Given the description of an element on the screen output the (x, y) to click on. 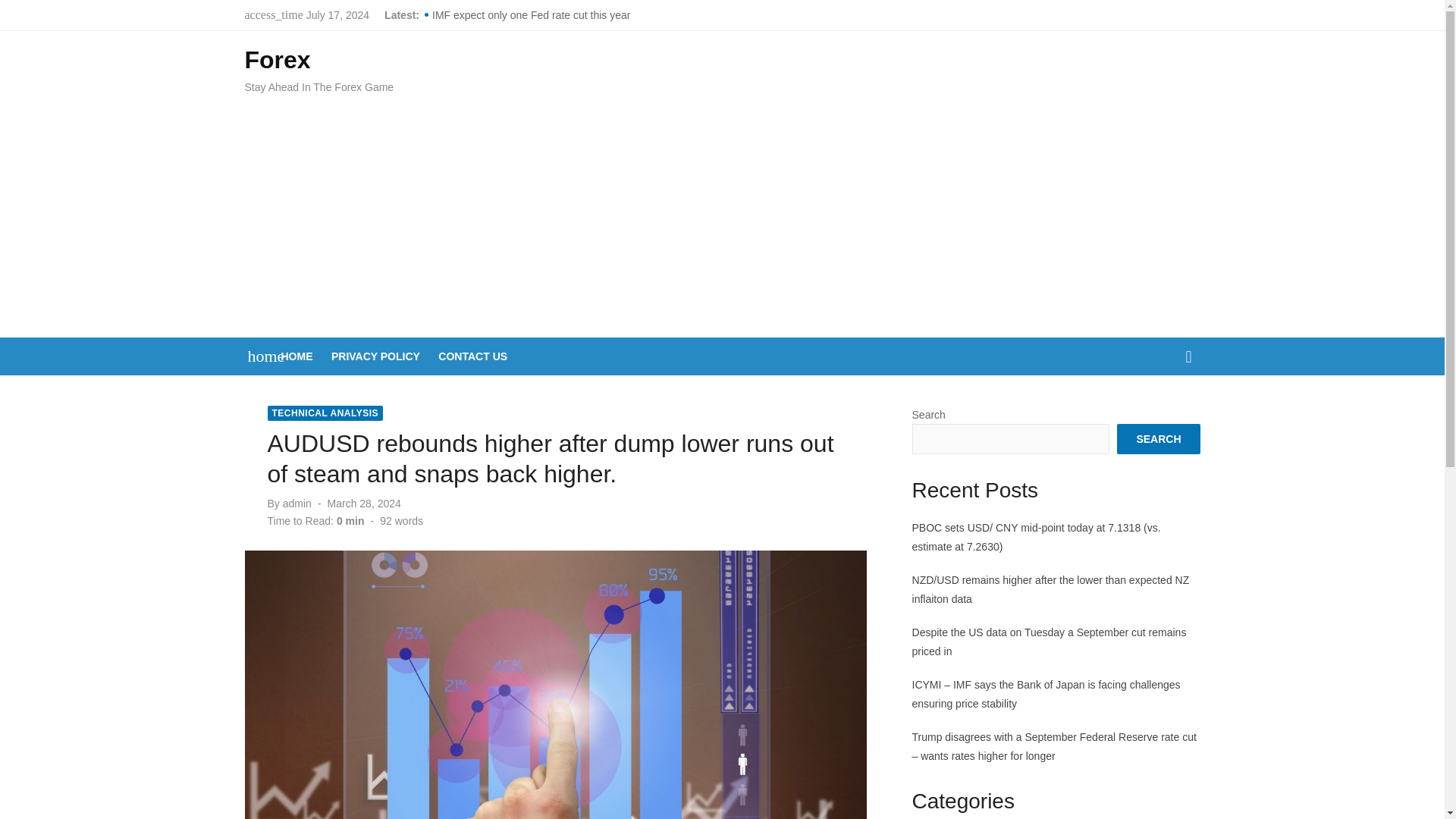
IMF expect only one Fed rate cut this year (647, 15)
PRIVACY POLICY (376, 355)
March 28, 2024 (364, 503)
admin (296, 503)
Forex (277, 59)
SEARCH (1157, 439)
home (258, 354)
CONTACT US (473, 355)
TECHNICAL ANALYSIS (324, 412)
HOME (296, 355)
